Given the description of an element on the screen output the (x, y) to click on. 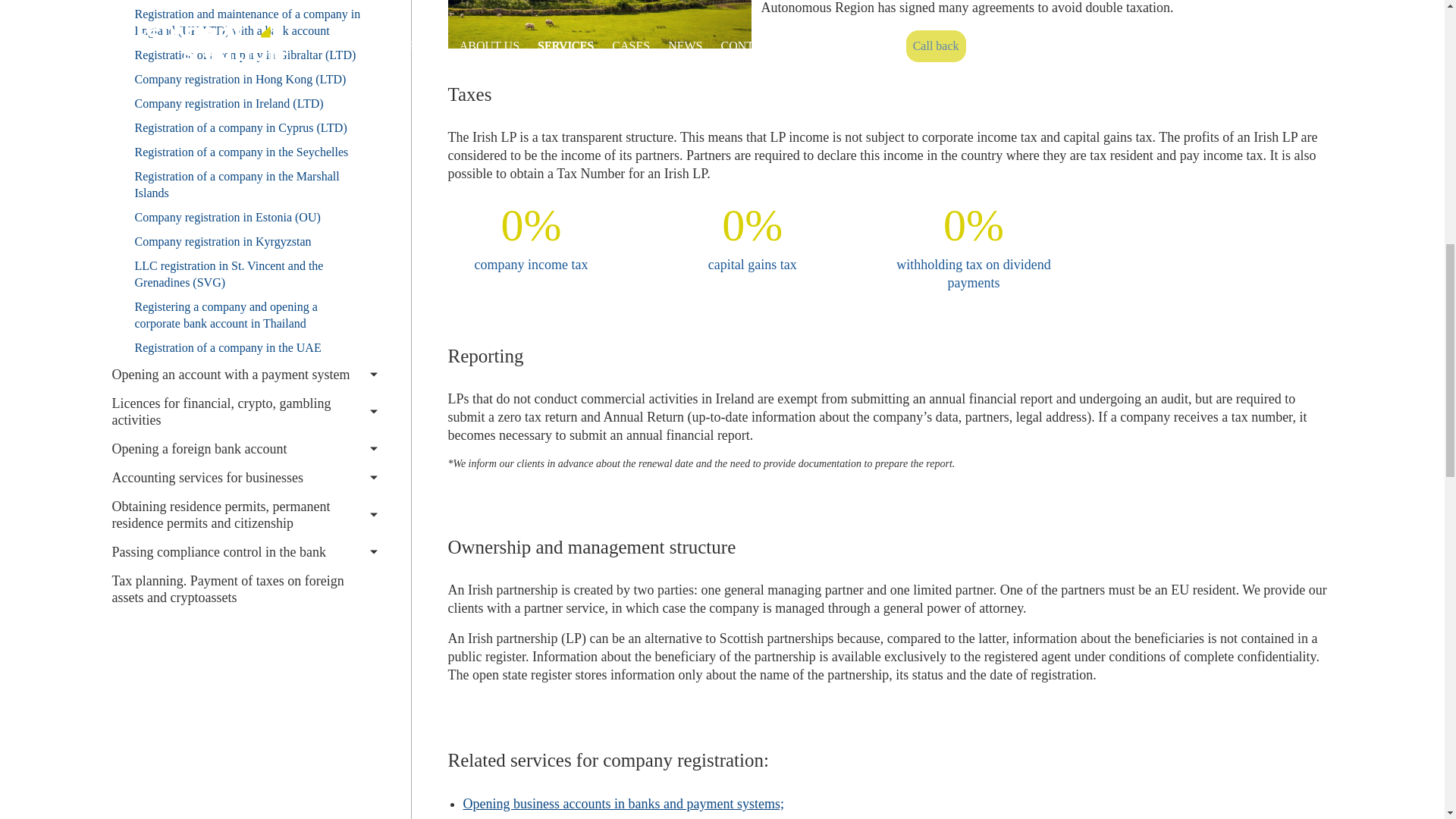
Company registration in Kyrgyzstan (244, 241)
Opening an account with a payment system (244, 374)
Licences for financial, crypto, gambling activities (244, 411)
Registration of a company in the Seychelles (244, 152)
Registration of a company in the UAE (244, 347)
Registration of a company in the Marshall Islands (244, 184)
